Given the description of an element on the screen output the (x, y) to click on. 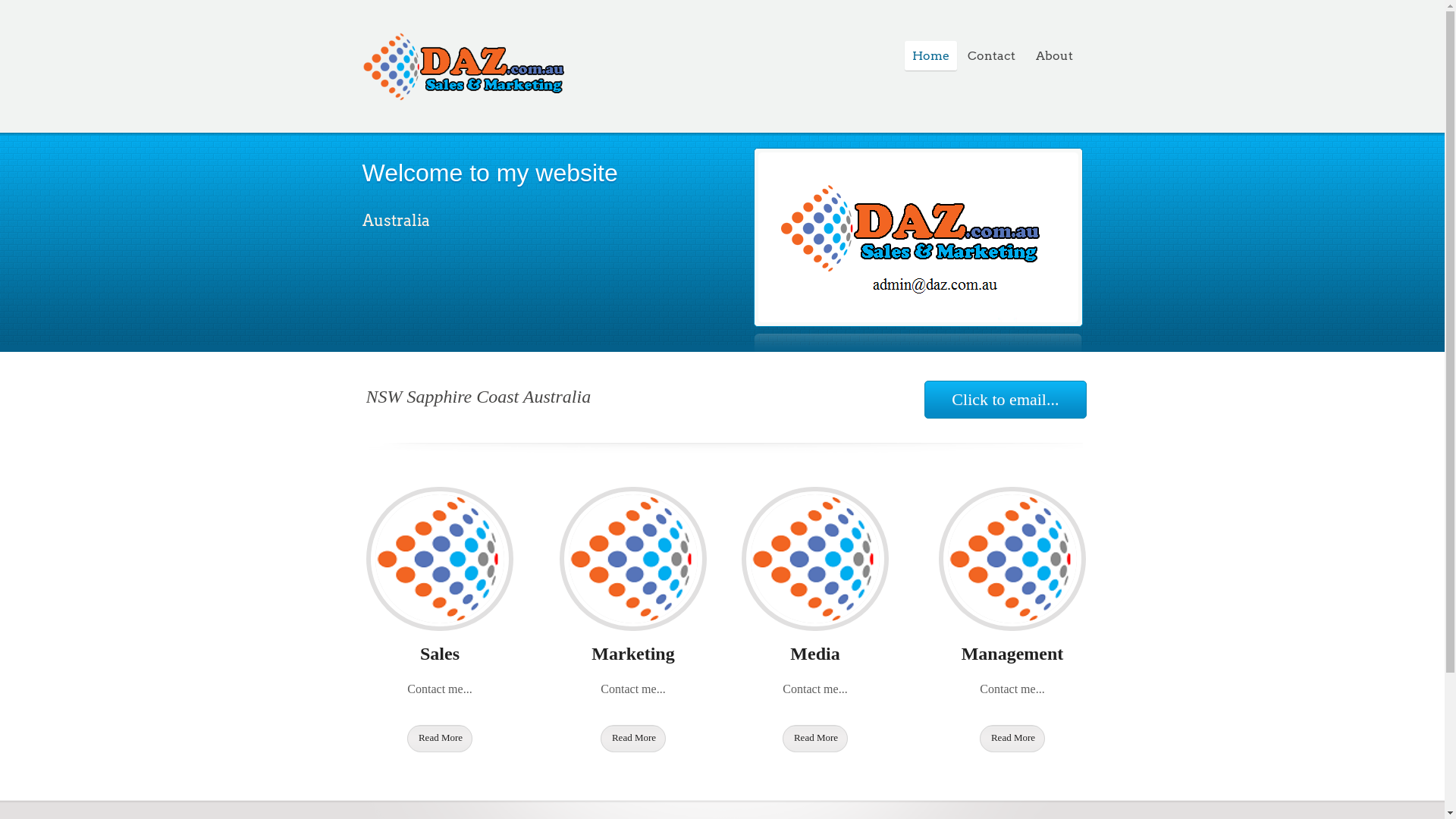
About Element type: text (1054, 55)
Management Element type: text (1012, 653)
Read More Element type: text (1011, 738)
Marketing Element type: text (632, 653)
Sales Element type: text (439, 653)
Read More Element type: text (632, 738)
Contact Element type: text (991, 55)
Welcome to my website Element type: text (490, 172)
Home Element type: text (930, 55)
Media Element type: text (814, 653)
Read More Element type: text (439, 738)
Read More Element type: text (814, 738)
Click to email... Element type: text (1004, 399)
